Given the description of an element on the screen output the (x, y) to click on. 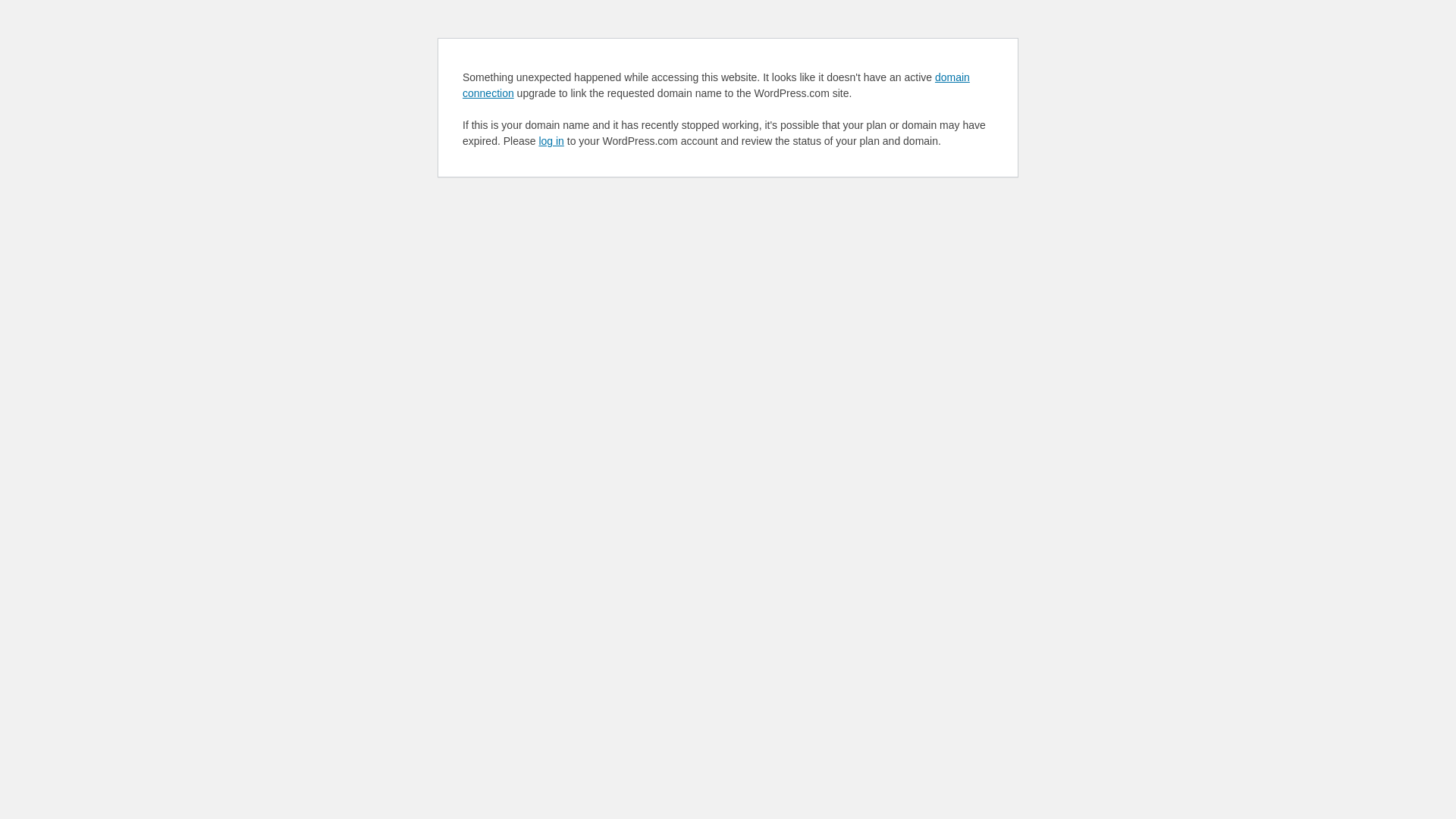
domain connection Element type: text (715, 85)
log in Element type: text (550, 140)
